Given the description of an element on the screen output the (x, y) to click on. 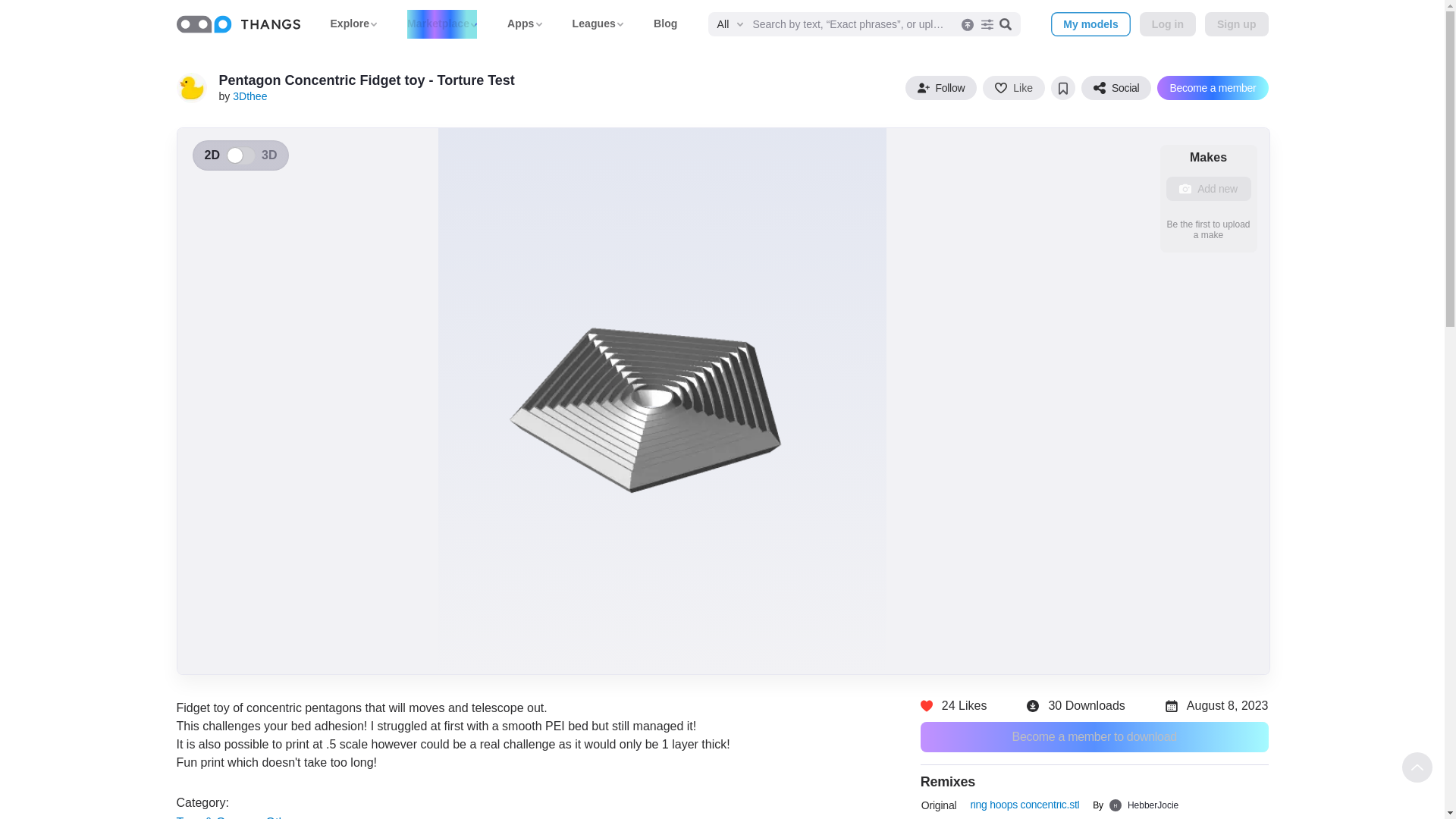
Upload for Search (965, 24)
3Dthee (249, 96)
Like (1013, 87)
Search By Text (1004, 24)
Other (281, 817)
Become a member (1212, 87)
Sign up (1236, 24)
Marketplace (442, 23)
Log in (1167, 24)
thee  (191, 87)
